Given the description of an element on the screen output the (x, y) to click on. 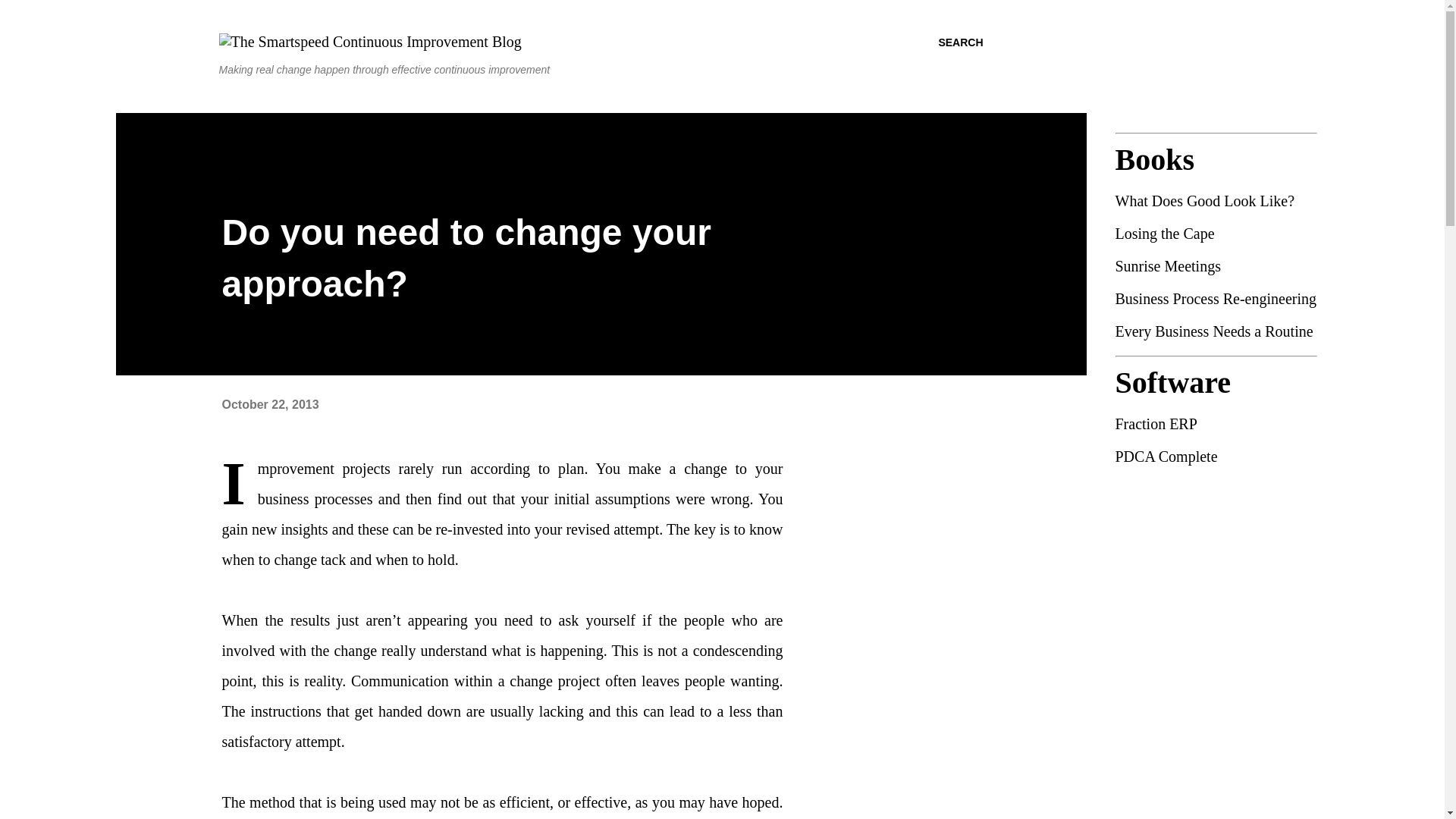
What Does Good Look Like? (1215, 200)
October 22, 2013 (269, 404)
permanent link (269, 404)
Losing the Cape (1215, 233)
Business Process Re-engineering (1215, 298)
Sunrise Meetings (1215, 266)
Every Business Needs a Routine (1215, 331)
SEARCH (959, 42)
